Given the description of an element on the screen output the (x, y) to click on. 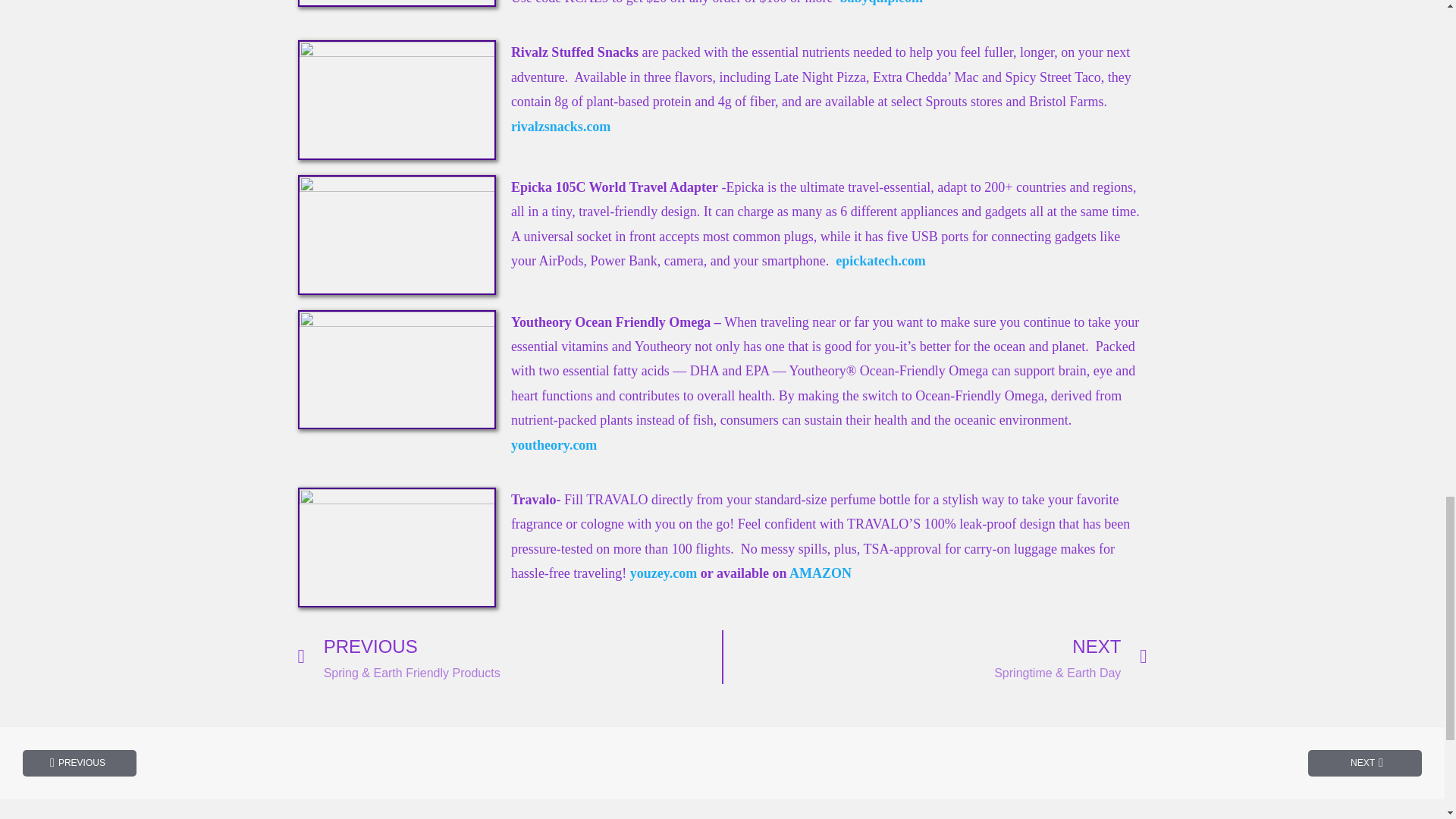
epickatech.com (879, 260)
NEXT (1364, 763)
AMAZON (820, 572)
youzey.com (663, 572)
PREVIOUS (79, 763)
rivalzsnacks.com (560, 126)
youtheory.com (553, 444)
babyquip.com (881, 2)
